Given the description of an element on the screen output the (x, y) to click on. 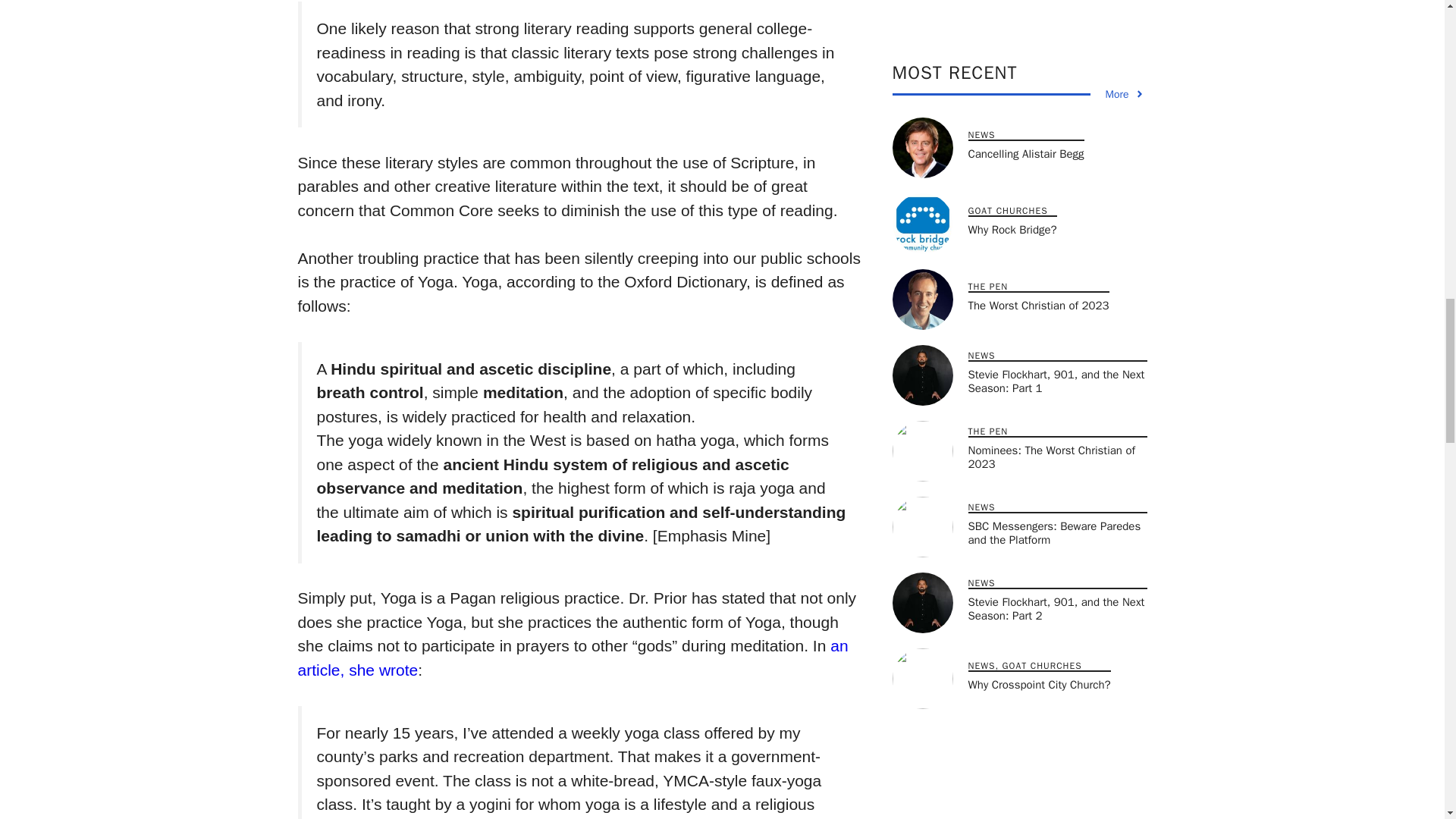
an article, she wrote (572, 657)
